Given the description of an element on the screen output the (x, y) to click on. 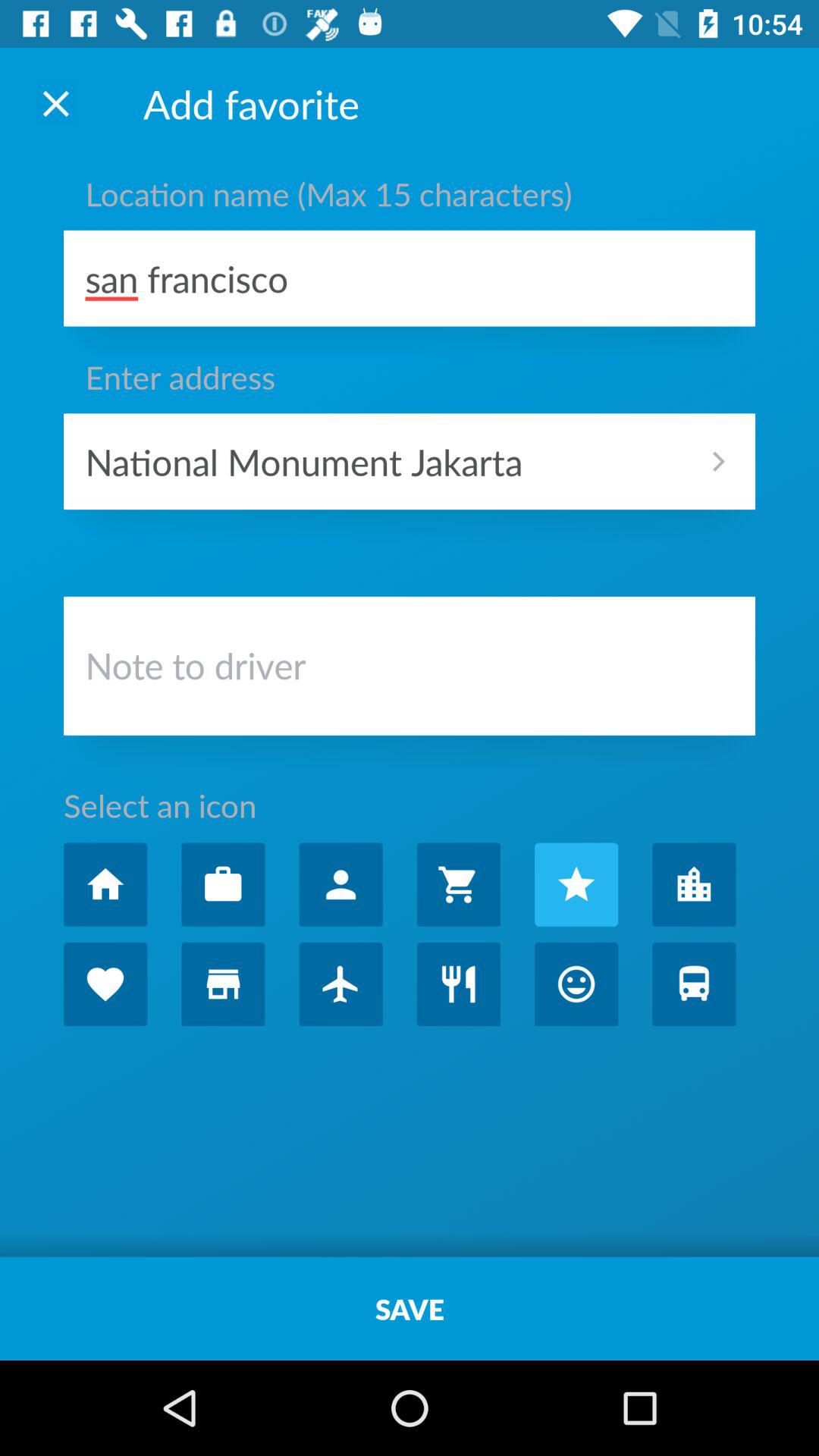
cart (458, 884)
